Given the description of an element on the screen output the (x, y) to click on. 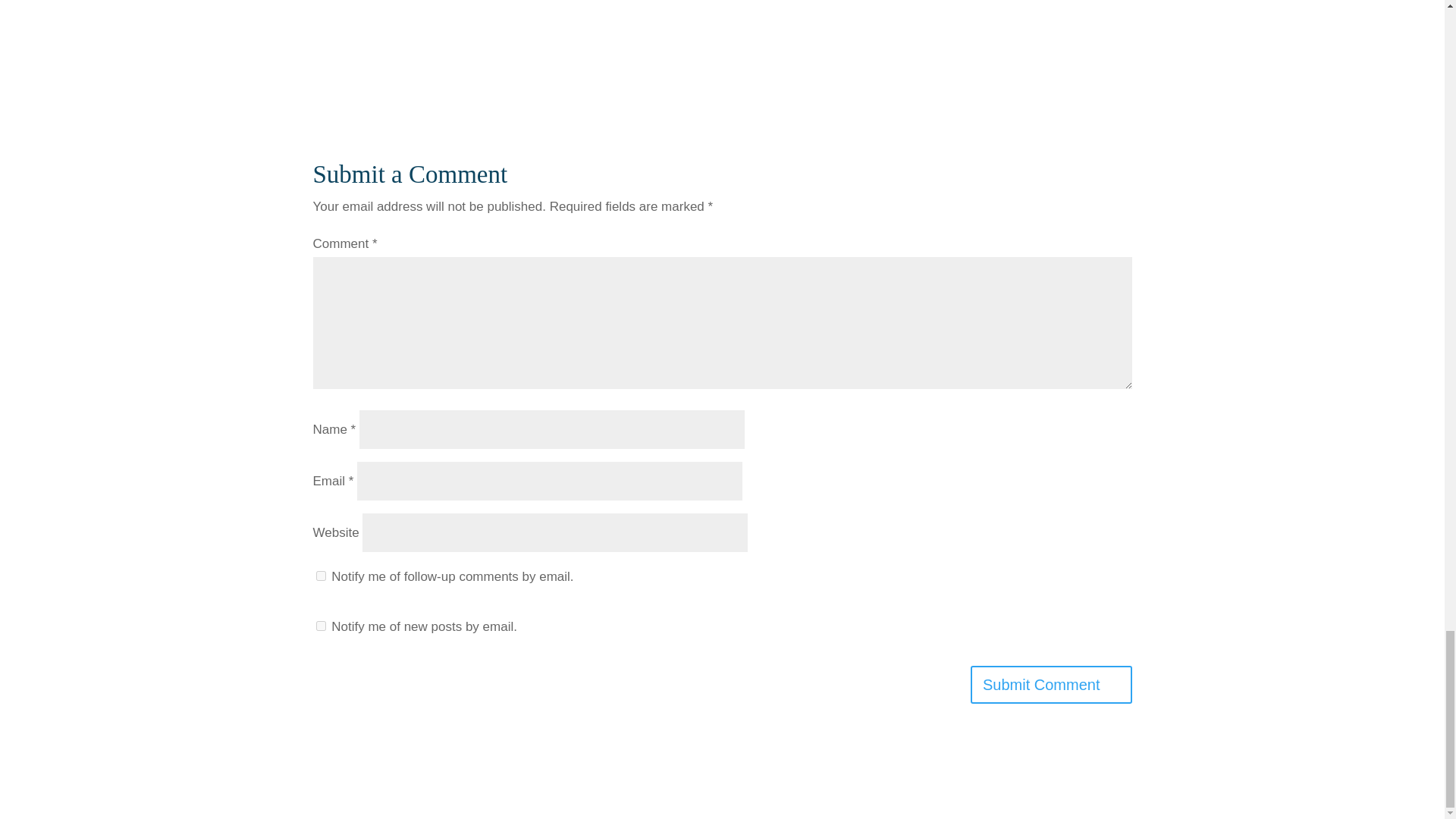
subscribe (319, 575)
subscribe (319, 625)
Submit Comment (1051, 684)
